Given the description of an element on the screen output the (x, y) to click on. 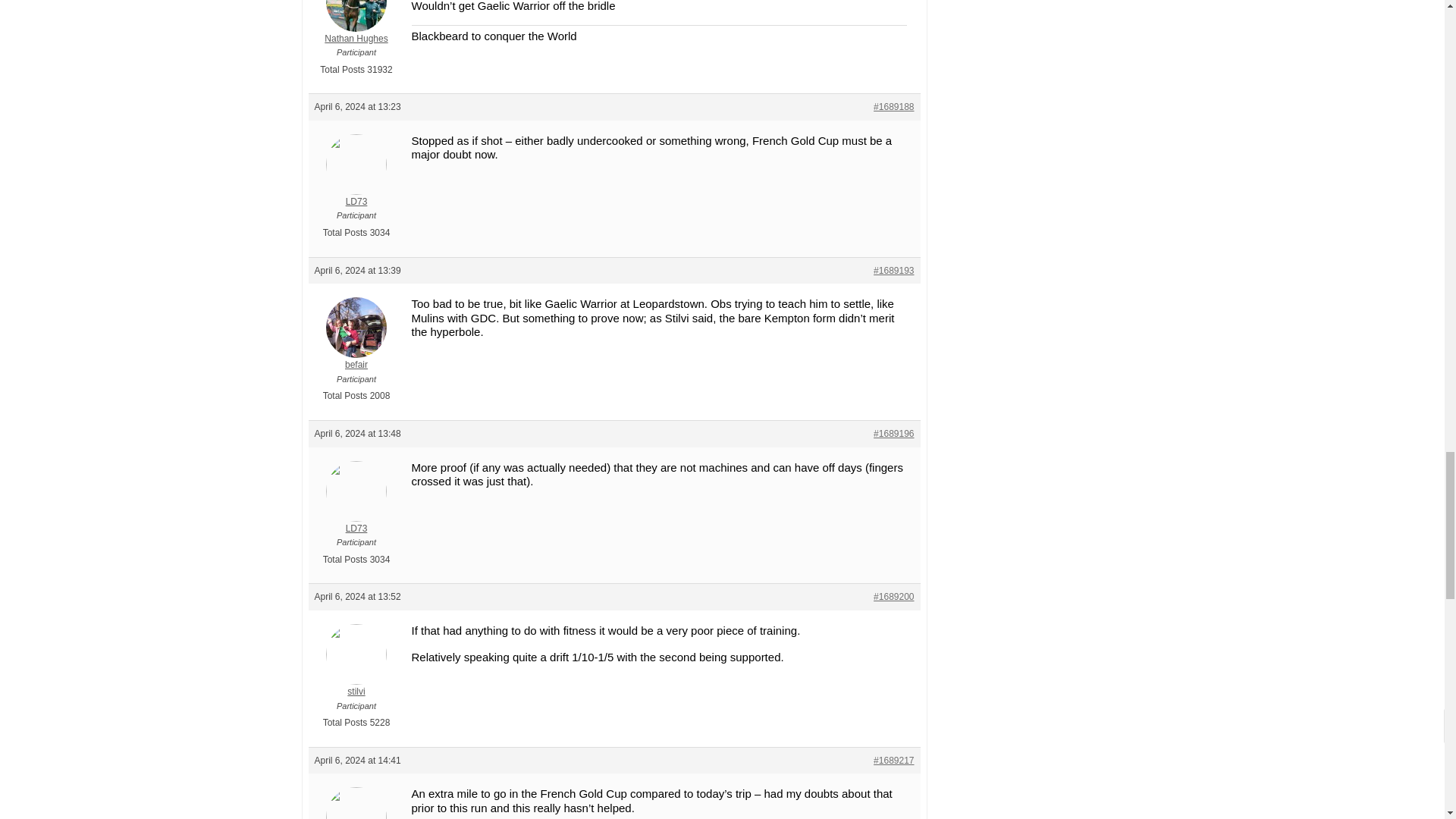
View Nathan Hughes's profile (355, 22)
View LD73's profile (355, 180)
